Given the description of an element on the screen output the (x, y) to click on. 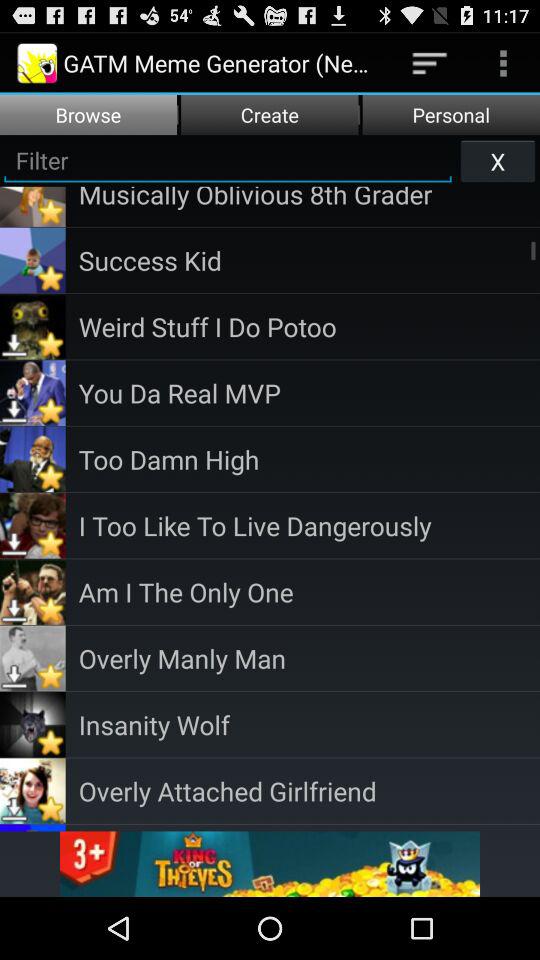
open the x button (498, 160)
